Given the description of an element on the screen output the (x, y) to click on. 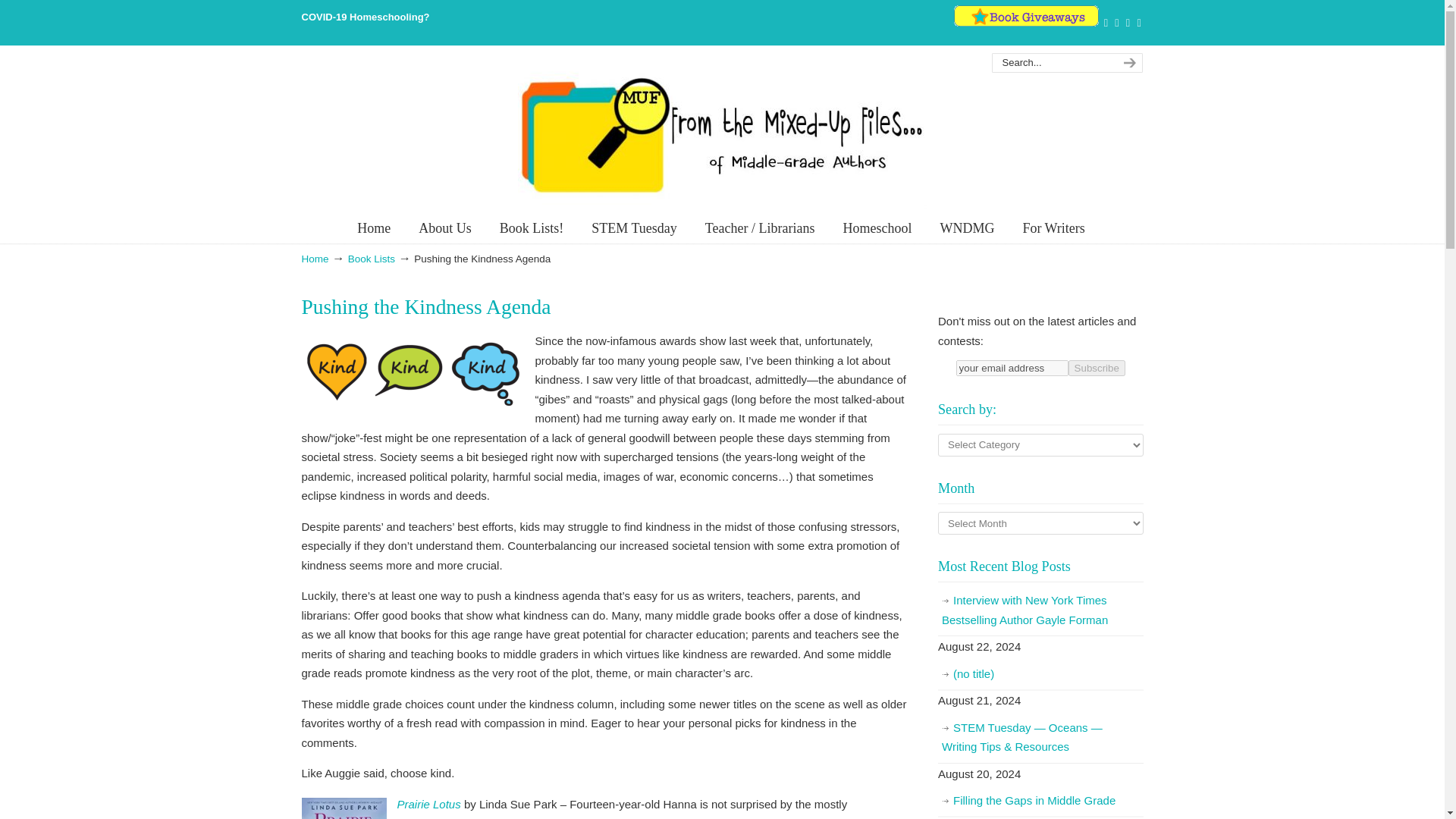
About Us (444, 228)
COVID-19 Homeschooling? (365, 16)
Search... (1051, 62)
Home (374, 228)
From The Mixed Up Files (721, 134)
your email address (1012, 367)
From The Mixed Up Files (721, 134)
search (1126, 62)
search (1126, 62)
search (1126, 62)
